Given the description of an element on the screen output the (x, y) to click on. 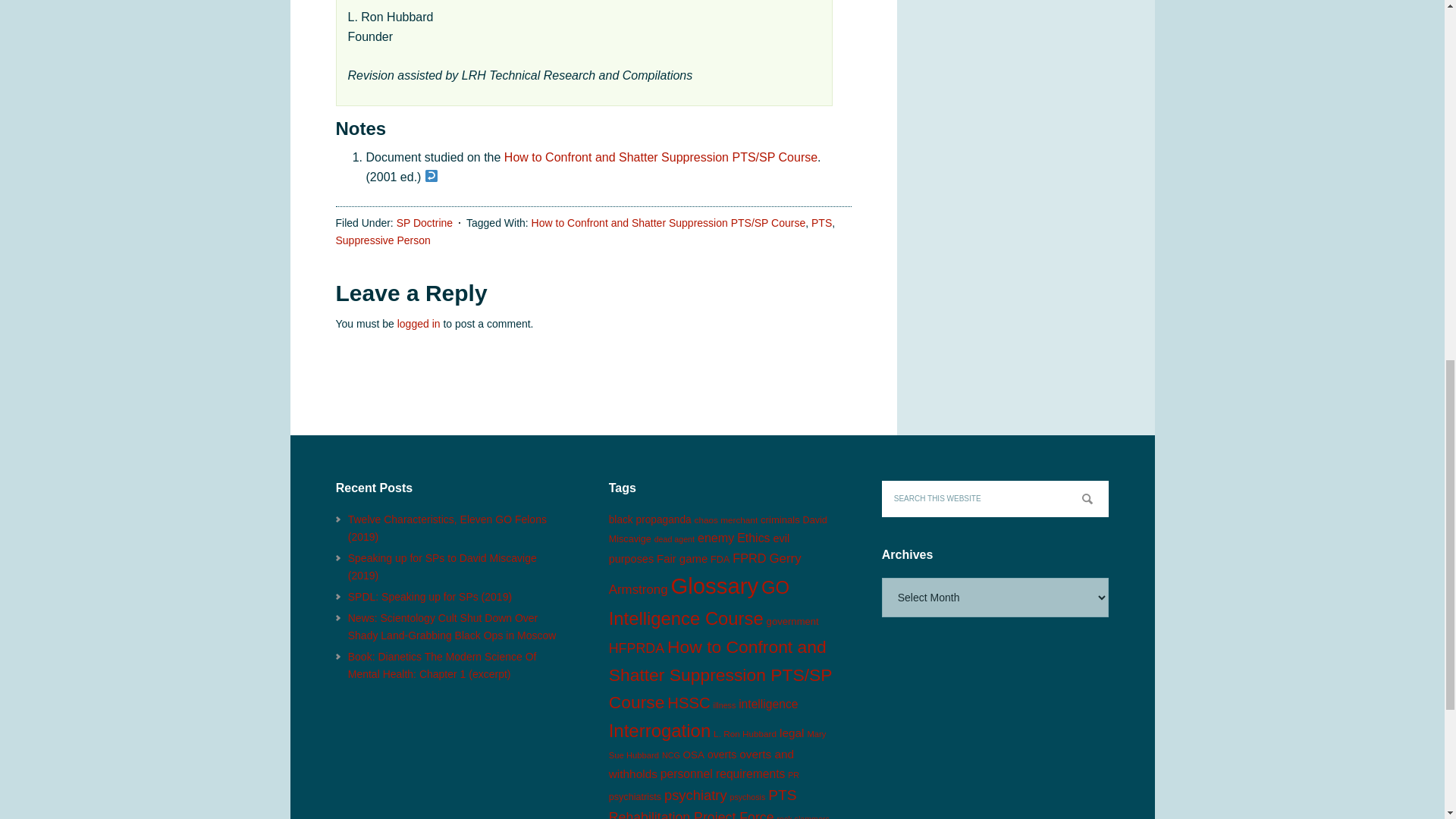
David Miscavige (717, 529)
chaos merchant (726, 519)
evil purposes (698, 548)
dead agent (673, 538)
Suppressive Person (381, 240)
black propaganda (649, 519)
Ethics (753, 537)
